Given the description of an element on the screen output the (x, y) to click on. 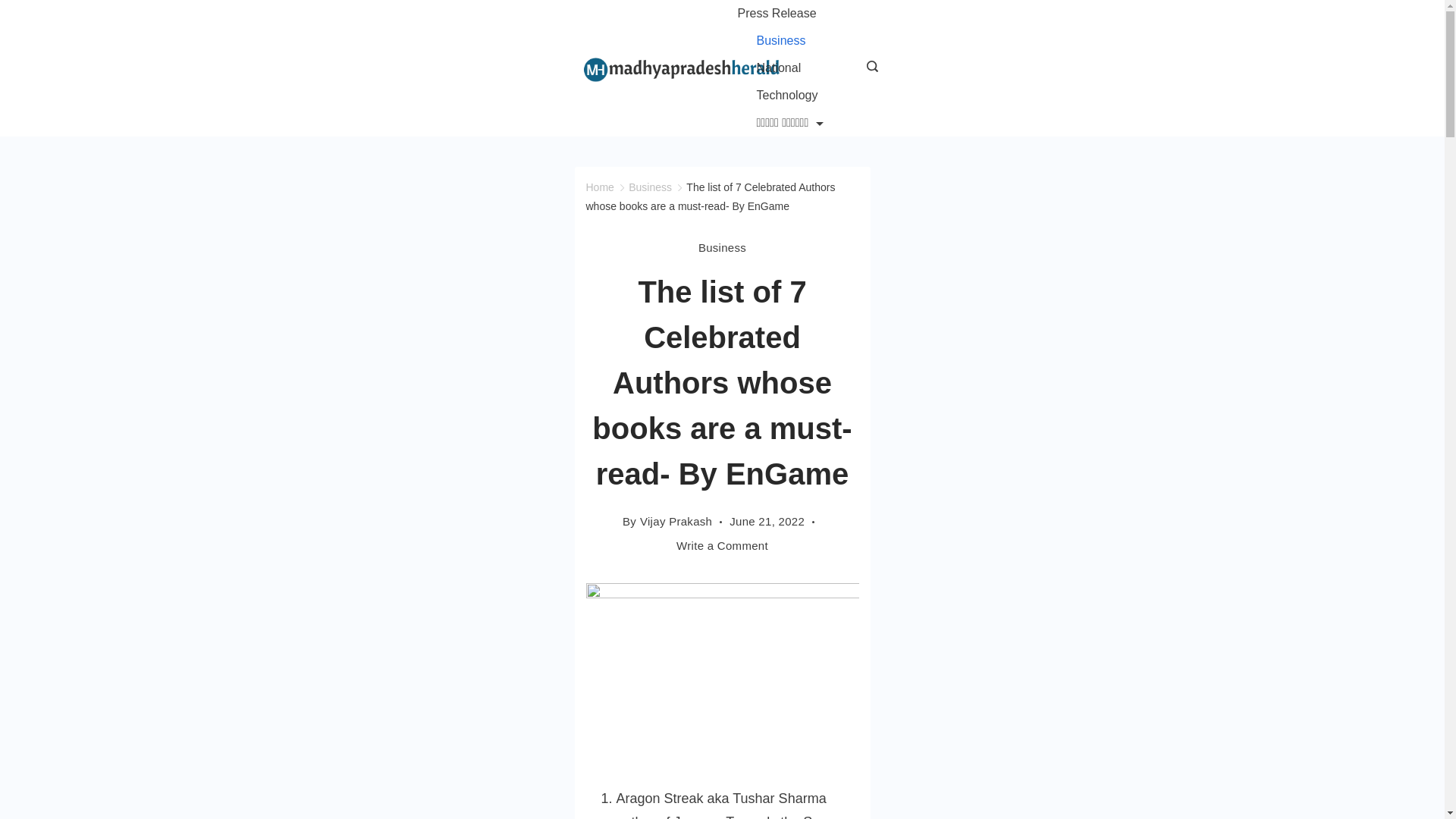
Business (721, 247)
Home (598, 186)
Business (780, 40)
National (777, 67)
Vijay Prakash (675, 521)
Technology (785, 94)
Press Release (785, 13)
Business (649, 186)
